Given the description of an element on the screen output the (x, y) to click on. 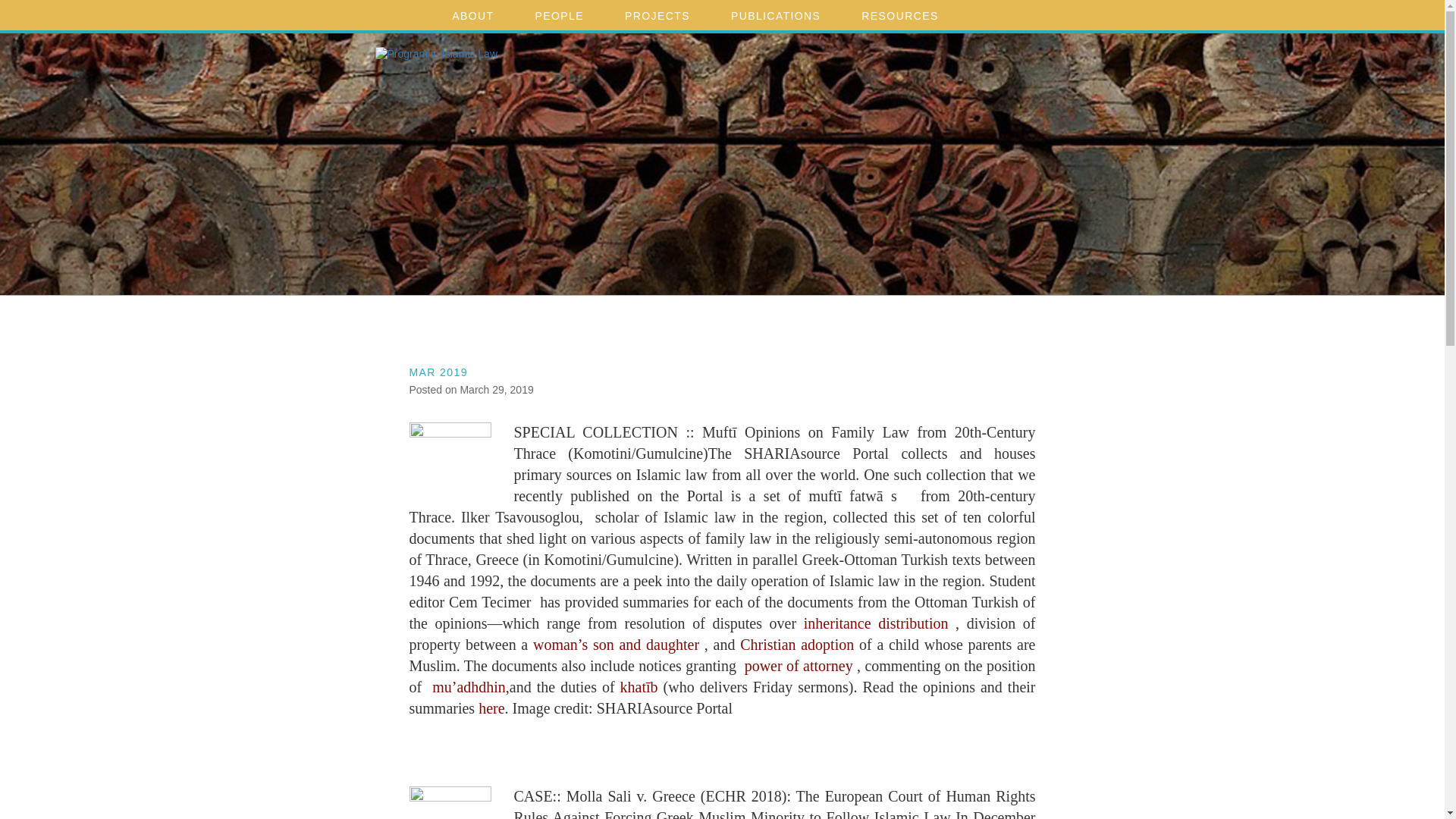
PROJECTS (663, 15)
PUBLICATIONS (780, 15)
PEOPLE (564, 15)
RESOURCES (904, 15)
ABOUT (477, 15)
